Given the description of an element on the screen output the (x, y) to click on. 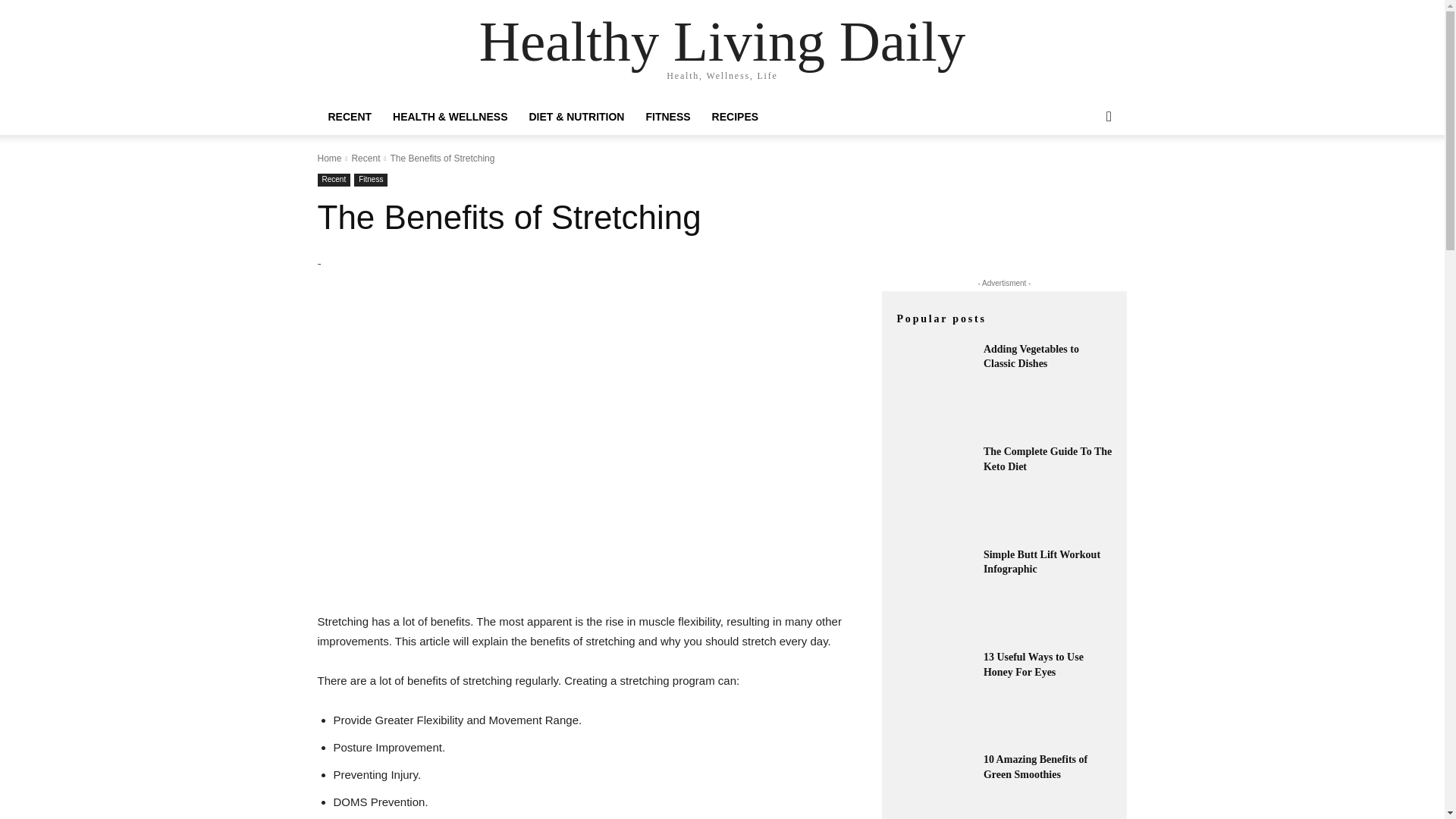
Search (1085, 177)
RECIPES (734, 116)
View all posts in Recent (365, 158)
RECENT (349, 116)
Fitness (370, 179)
Home (328, 158)
Recent (333, 179)
Healthy Living Daily (722, 41)
FITNESS (667, 116)
Recent (365, 158)
